Given the description of an element on the screen output the (x, y) to click on. 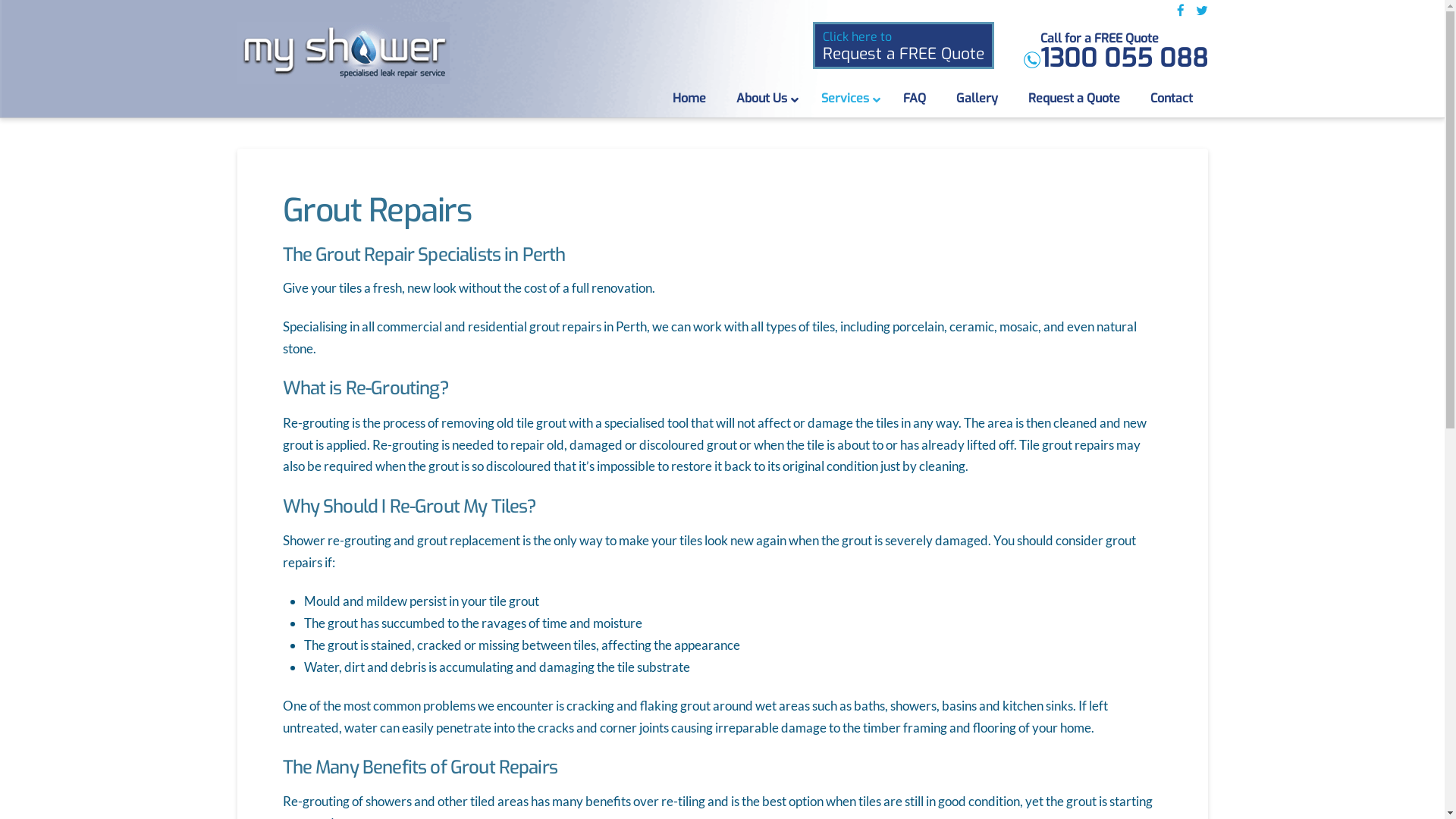
FAQ Element type: text (913, 98)
Leaking Shower and Leaking Balcony Repairs Perth Element type: hover (342, 52)
Click here to
Request a FREE Quote Element type: text (903, 46)
Gallery Element type: text (976, 98)
Services Element type: text (846, 98)
Home Element type: text (688, 98)
About Us Element type: text (762, 98)
1300 055 088 Element type: text (1124, 58)
Contact Element type: text (1170, 98)
Request a Quote Element type: text (1074, 98)
